Given the description of an element on the screen output the (x, y) to click on. 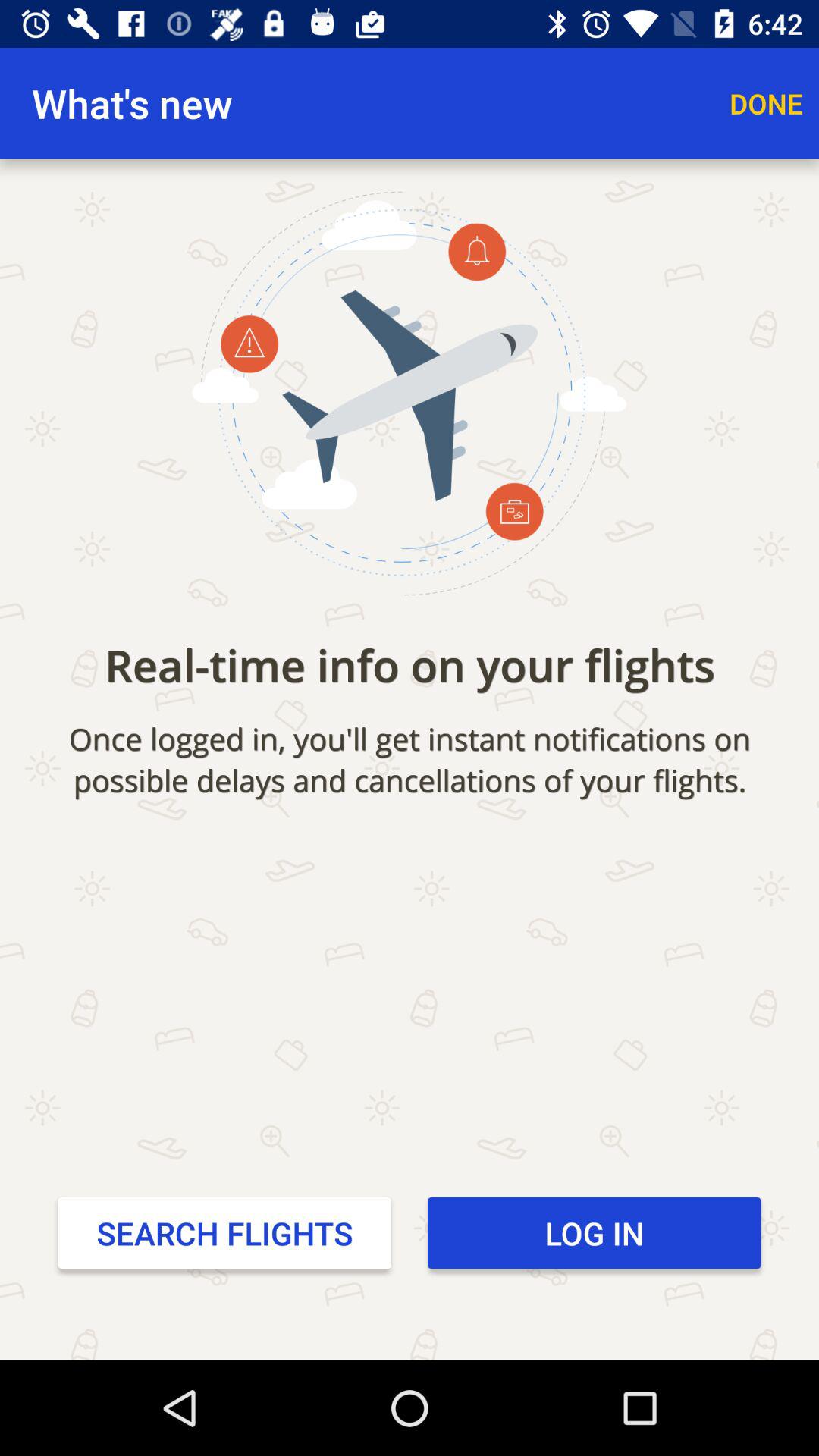
open item to the right of what's new app (766, 103)
